Given the description of an element on the screen output the (x, y) to click on. 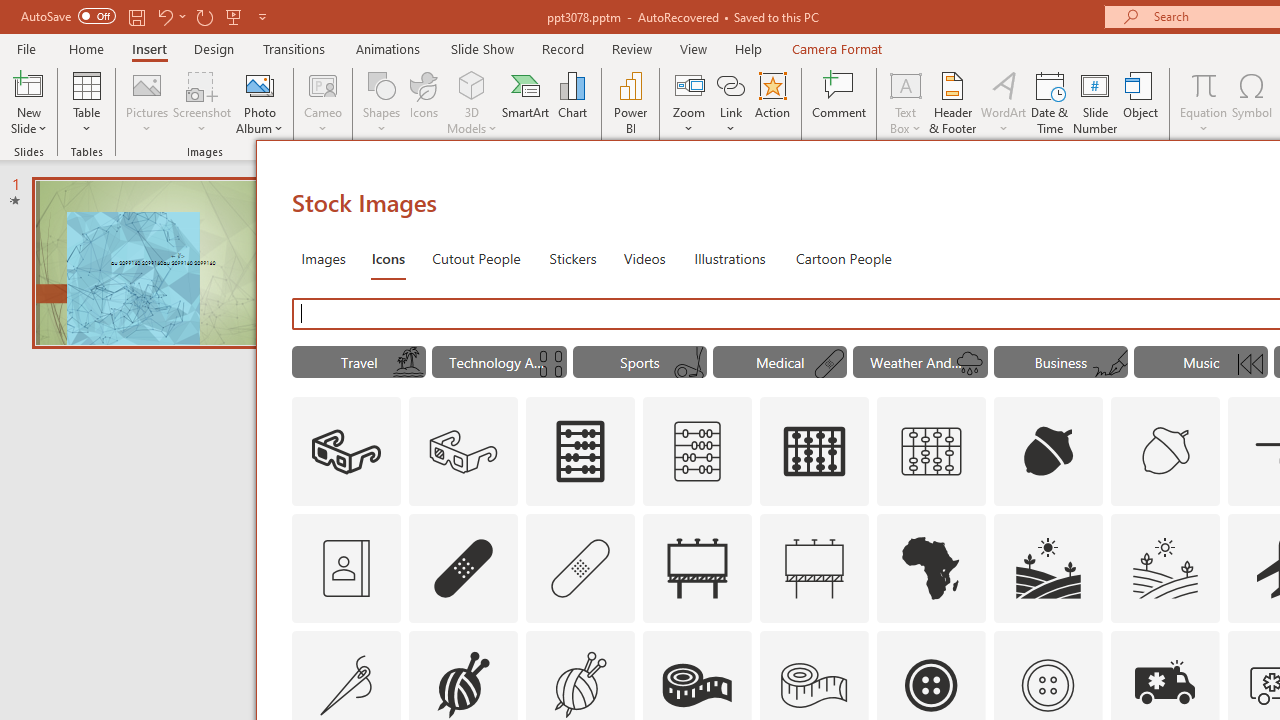
AutomationID: Icons_Abacus1 (815, 452)
Symbol... (1252, 102)
"Weather And Seasons" Icons. (920, 362)
"Business" Icons. (1060, 362)
AutomationID: Icons_Advertising_M (815, 568)
Thumbnail (1204, 645)
Icons (388, 258)
Stickers (573, 258)
Images (322, 258)
